Given the description of an element on the screen output the (x, y) to click on. 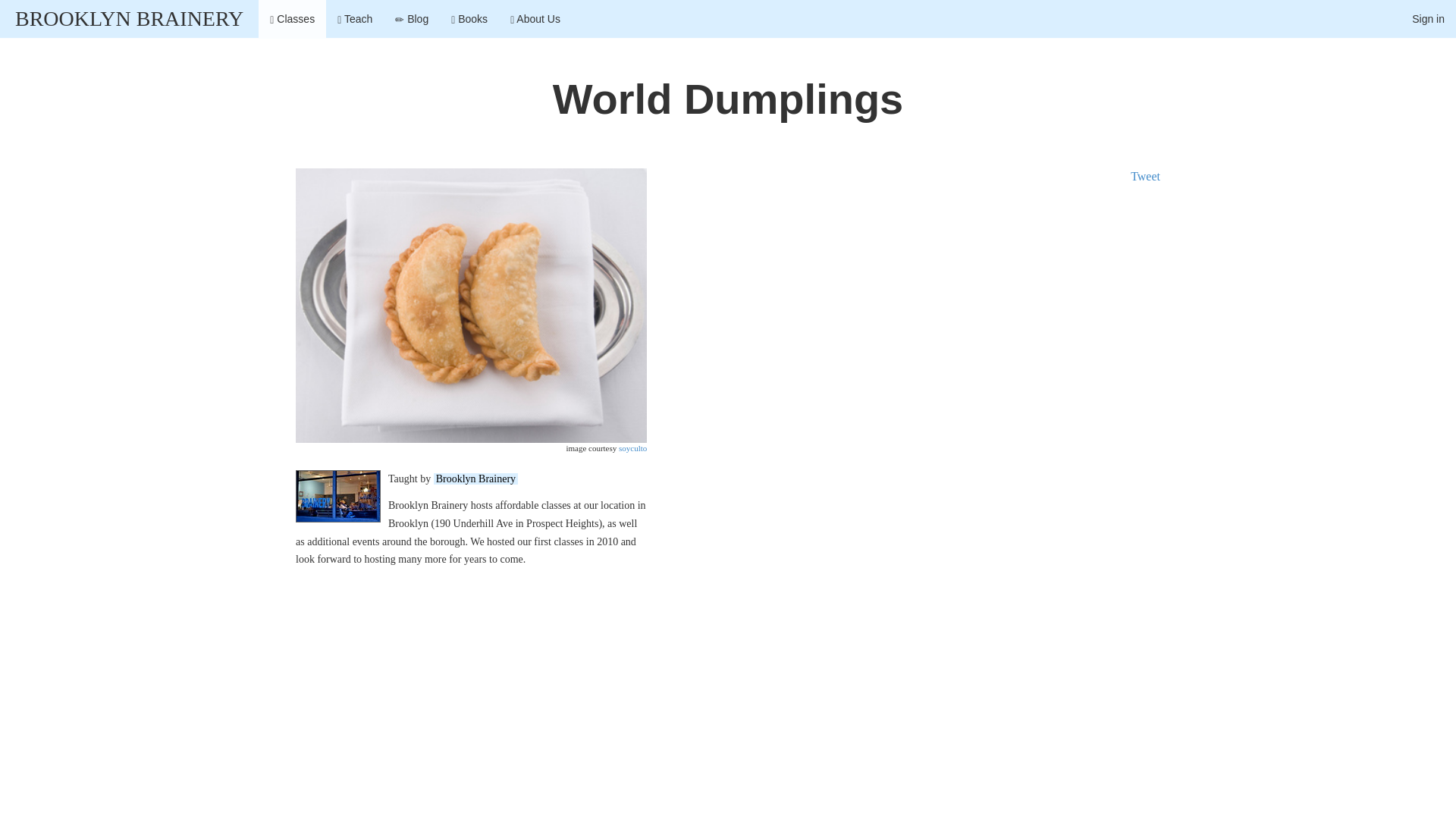
Teach (355, 18)
soyculto (632, 447)
Tweet (1145, 175)
BROOKLYN BRAINERY (129, 18)
Classes (292, 18)
Books (469, 18)
About Us (535, 18)
Blog (411, 18)
Brooklyn Brainery (475, 478)
